Given the description of an element on the screen output the (x, y) to click on. 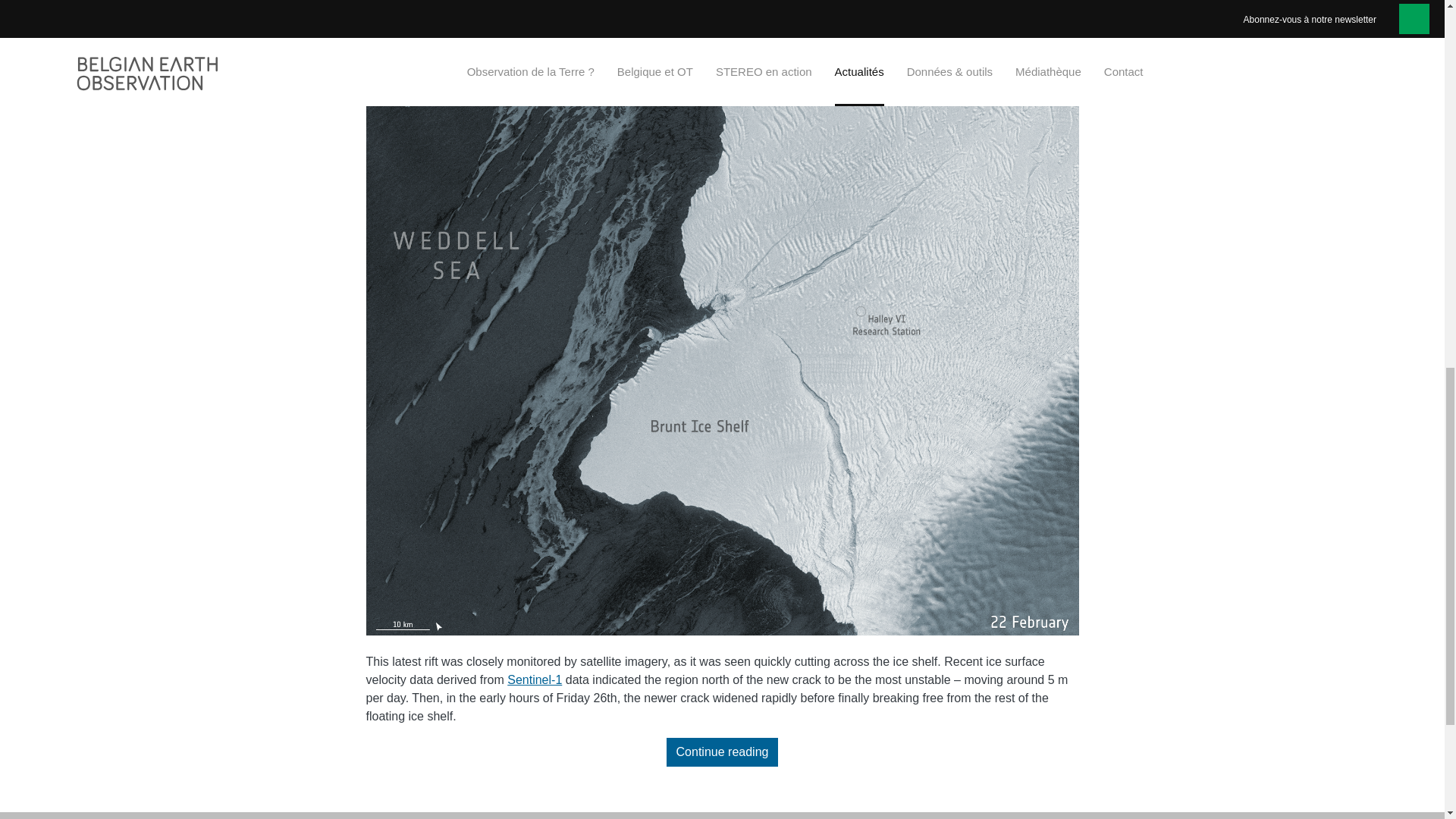
Sentinel-1 (534, 679)
Continue reading (722, 751)
